Given the description of an element on the screen output the (x, y) to click on. 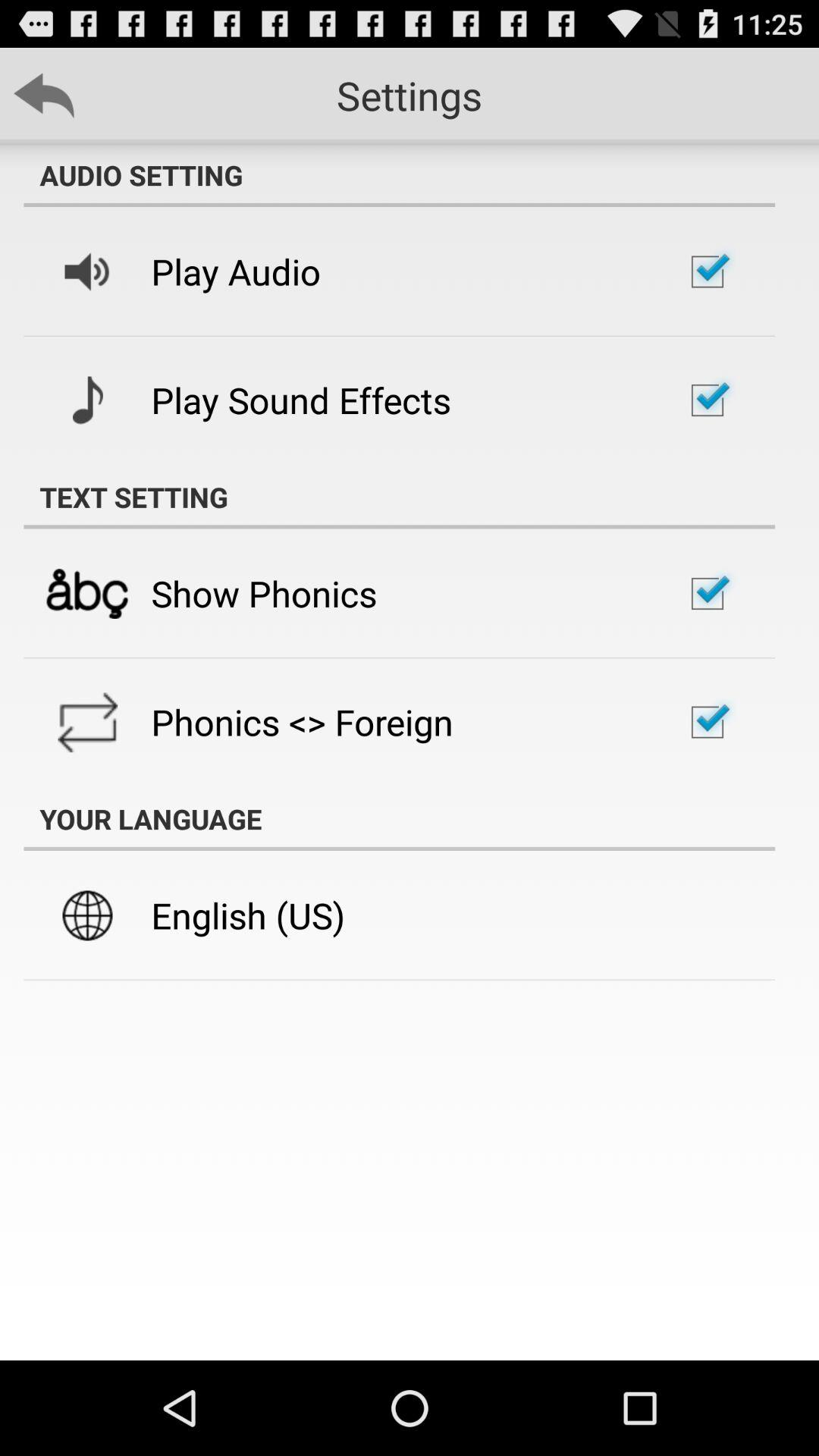
open icon below the play audio (301, 399)
